Given the description of an element on the screen output the (x, y) to click on. 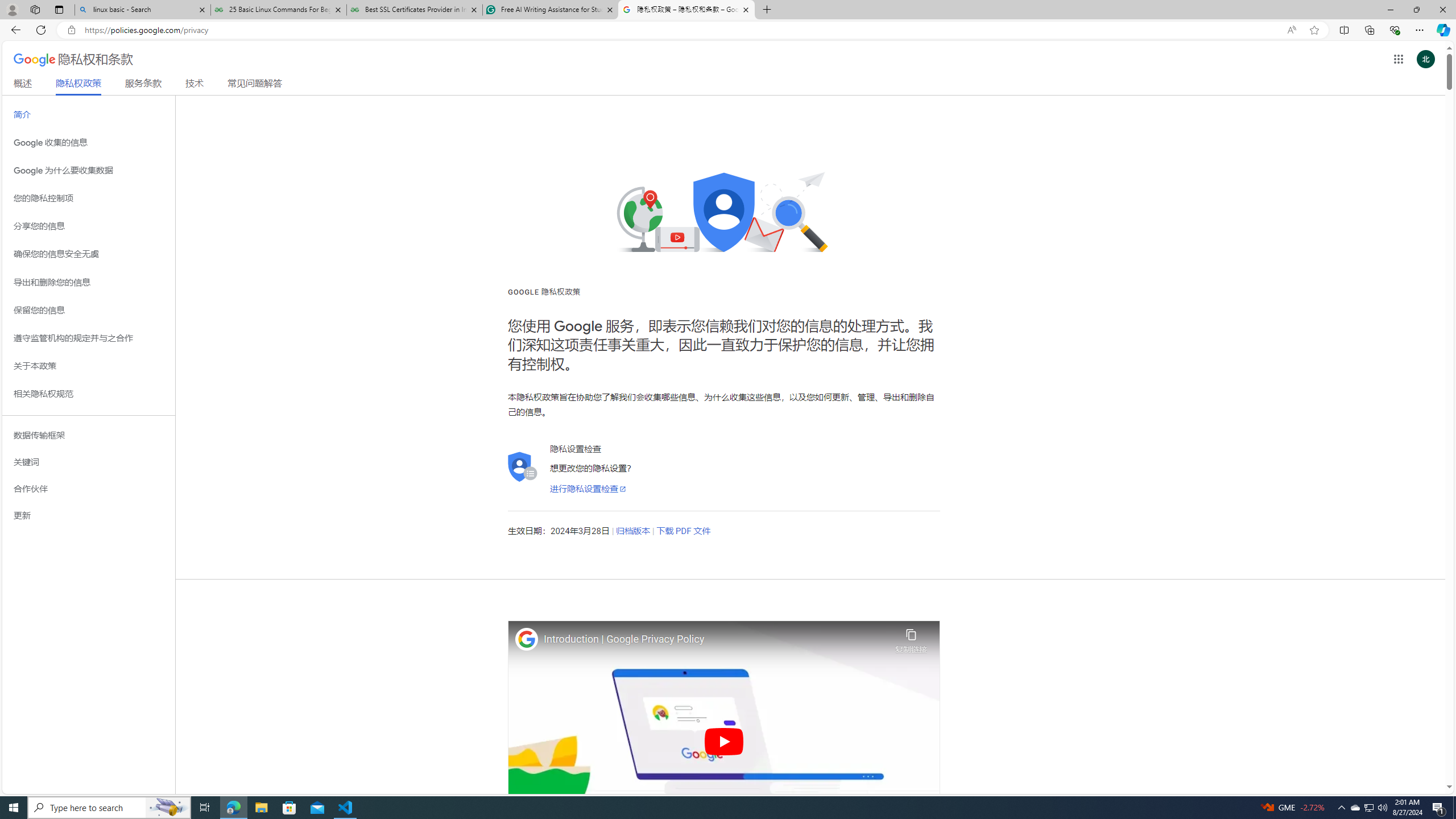
Introduction | Google Privacy Policy (716, 639)
Best SSL Certificates Provider in India - GeeksforGeeks (414, 9)
linux basic - Search (142, 9)
